Given the description of an element on the screen output the (x, y) to click on. 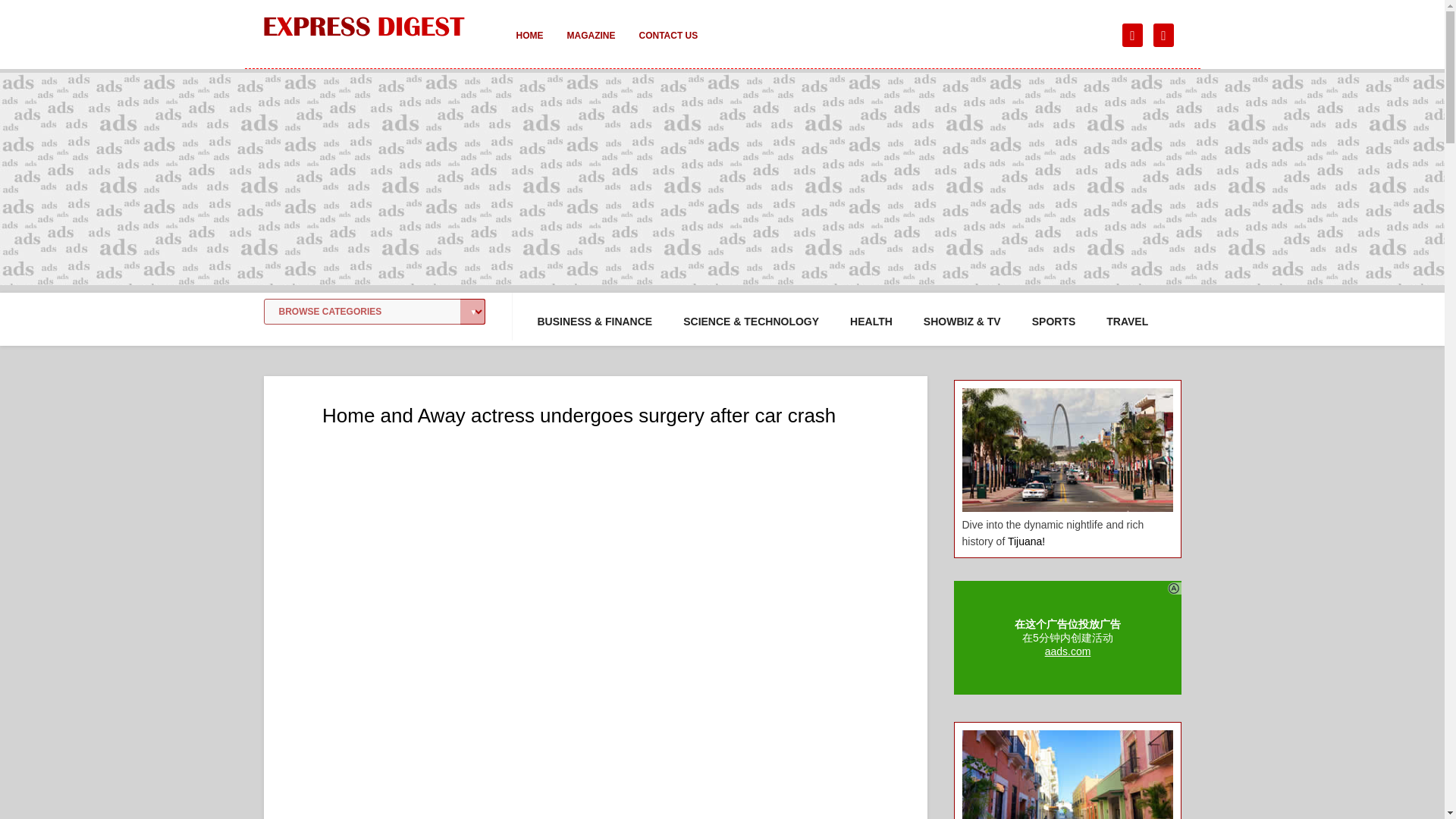
HEALTH (871, 321)
MAGAZINE (590, 45)
TRAVEL (1127, 321)
SPORTS (1053, 321)
Tijuana! (1026, 541)
CONTACT US (667, 45)
